Given the description of an element on the screen output the (x, y) to click on. 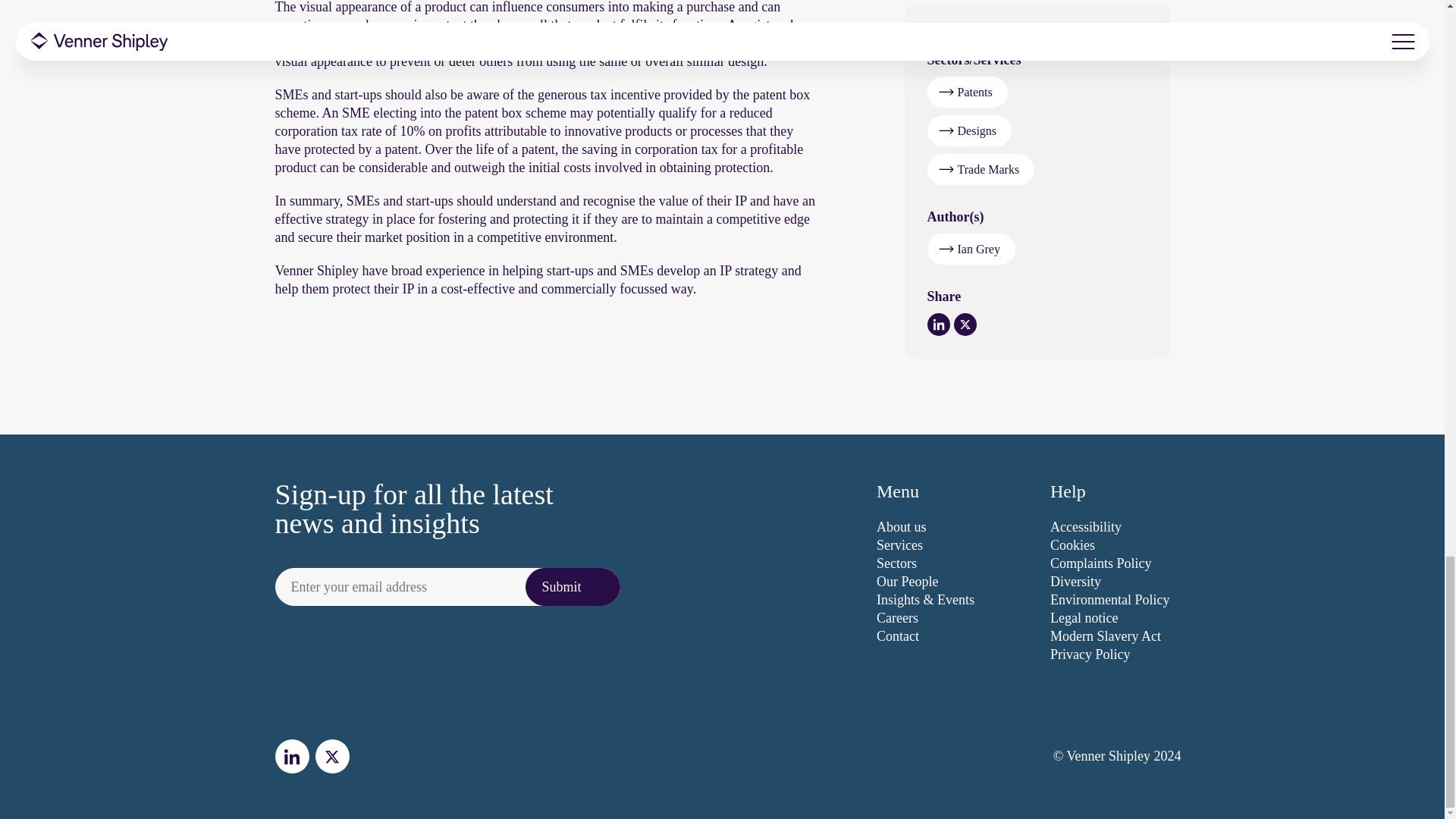
Submit (572, 587)
